Given the description of an element on the screen output the (x, y) to click on. 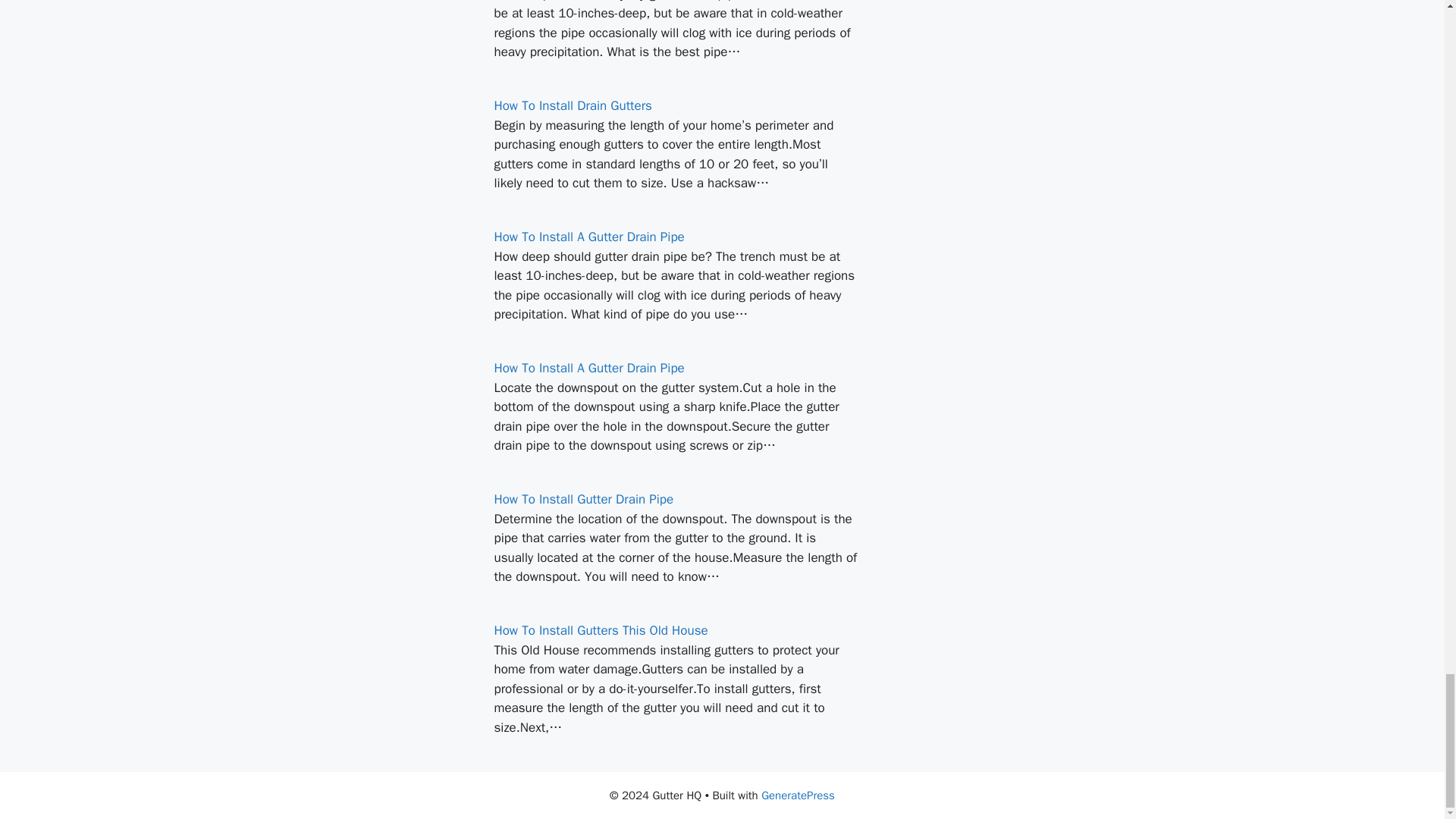
How To Install A Gutter Drain Pipe (589, 367)
How To Install Gutter Drain Pipe (584, 498)
How To Install Drain Gutters (573, 105)
How To Install A Gutter Drain Pipe (589, 236)
